Given the description of an element on the screen output the (x, y) to click on. 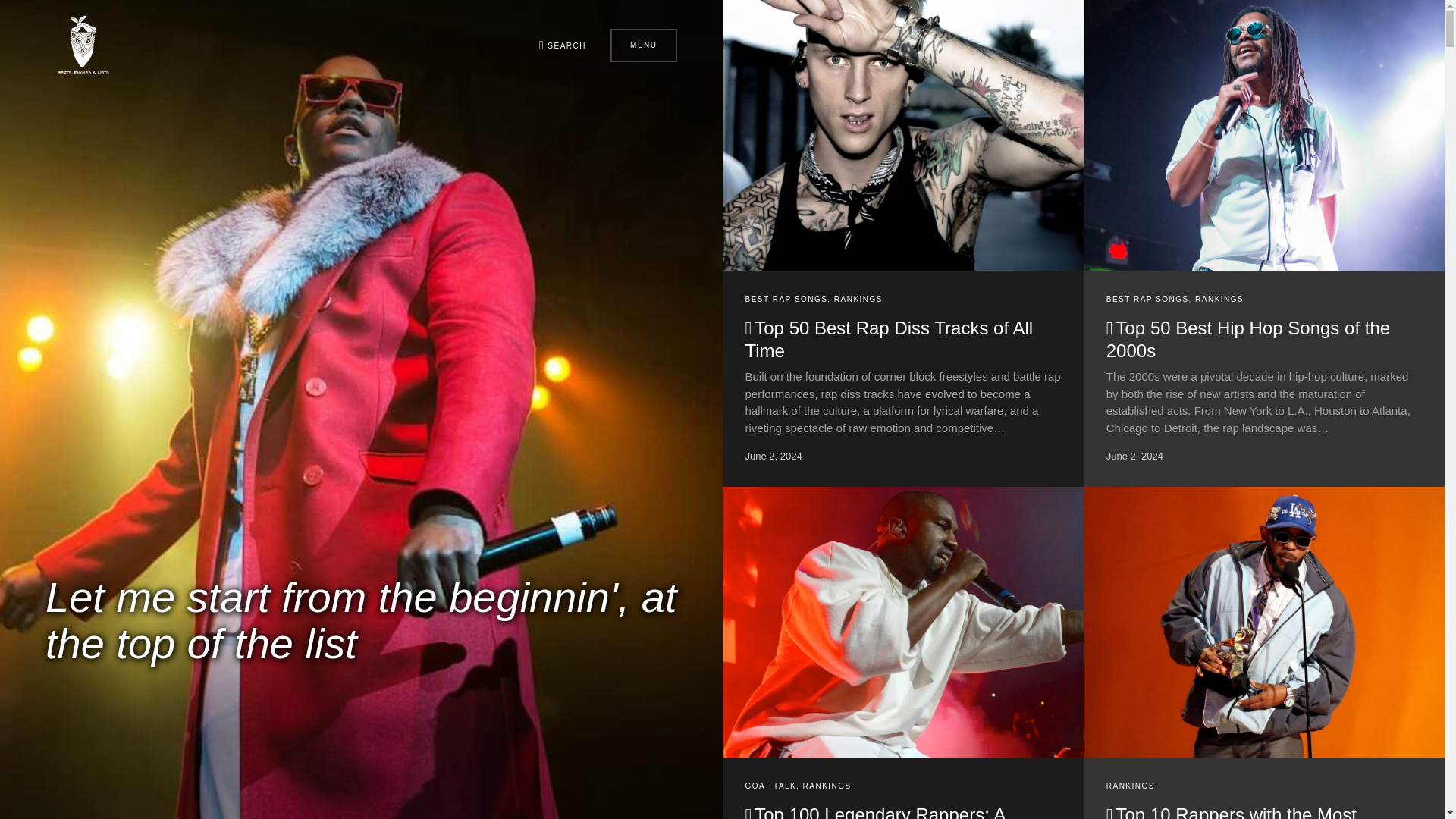
BEST RAP SONGS (785, 298)
RANKINGS (858, 298)
Top 50 Best Rap Diss Tracks of All Time (888, 339)
